Given the description of an element on the screen output the (x, y) to click on. 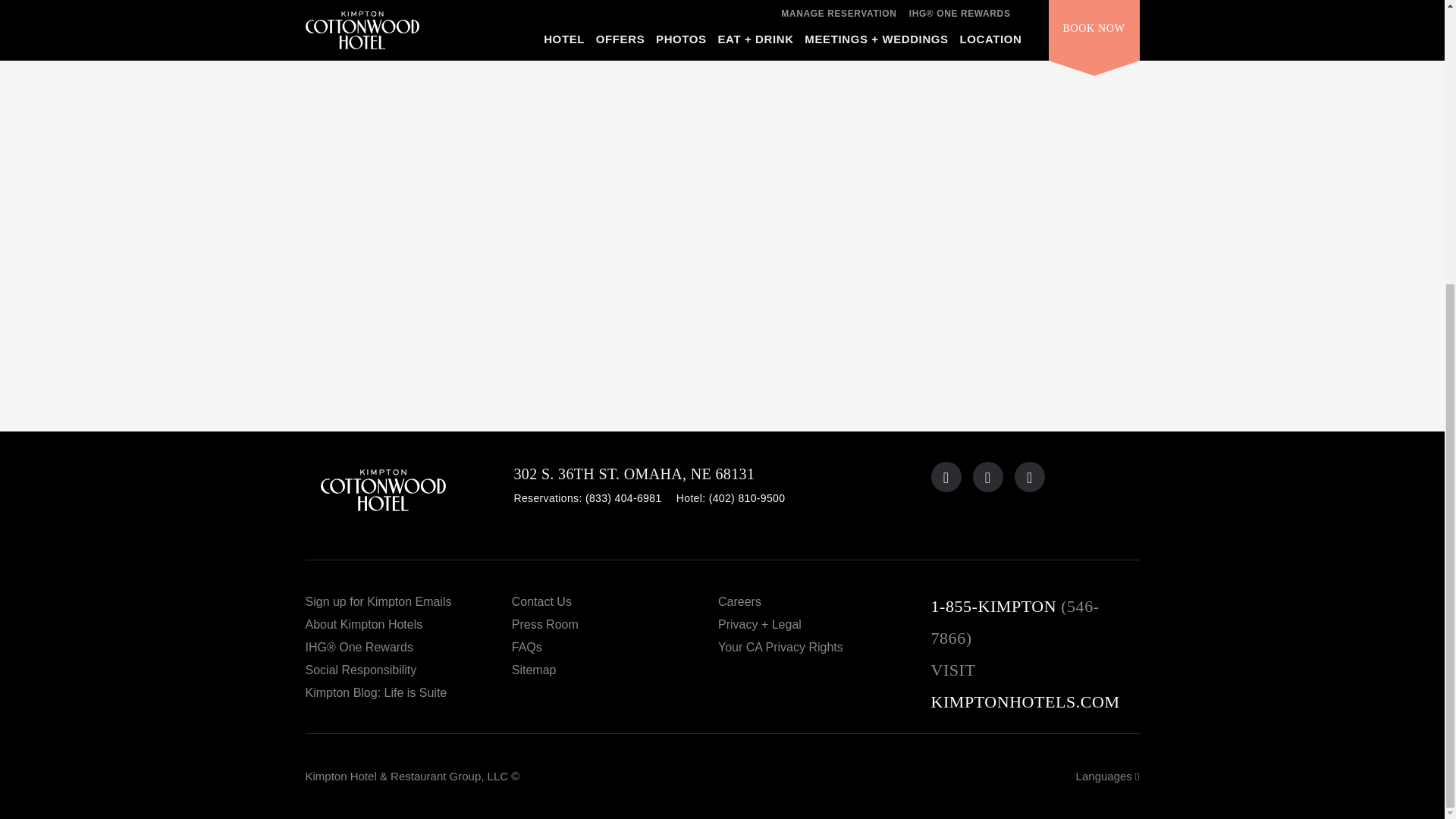
Kimpton Cottonwood Hotel on Instagram (1029, 476)
Kimpton Cottonwood Hotel on Facebook (987, 476)
Kimpton Hotels on Twitter (945, 476)
Home (408, 495)
Translate this page (1107, 775)
